Given the description of an element on the screen output the (x, y) to click on. 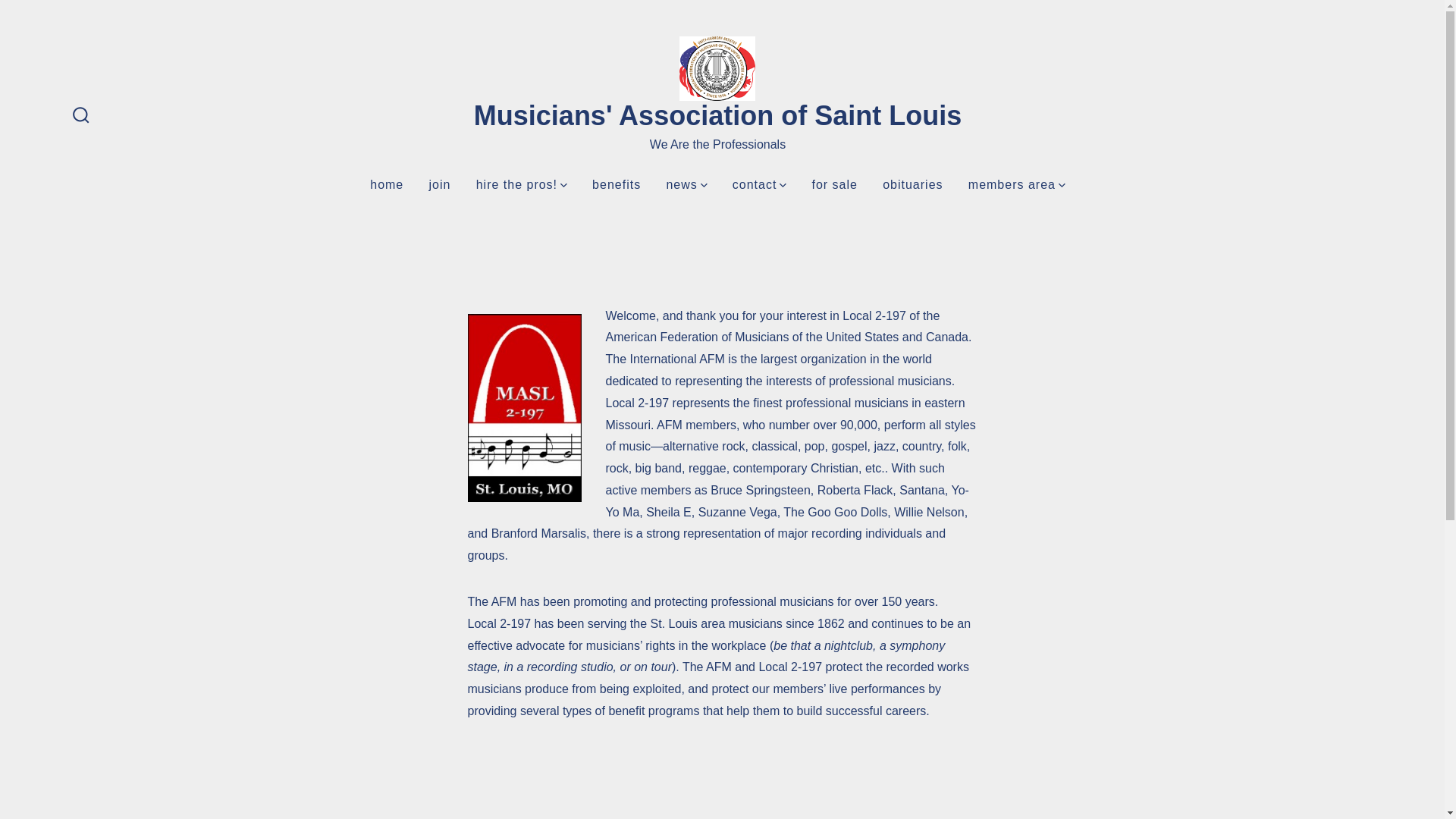
search toggle (81, 116)
Musicians' Association of Saint Louis (717, 115)
benefits (616, 185)
contact (759, 185)
home (386, 185)
obituaries (912, 185)
for sale (833, 185)
news (685, 185)
hire the pros! (521, 185)
join (440, 185)
members area (1016, 185)
